Given the description of an element on the screen output the (x, y) to click on. 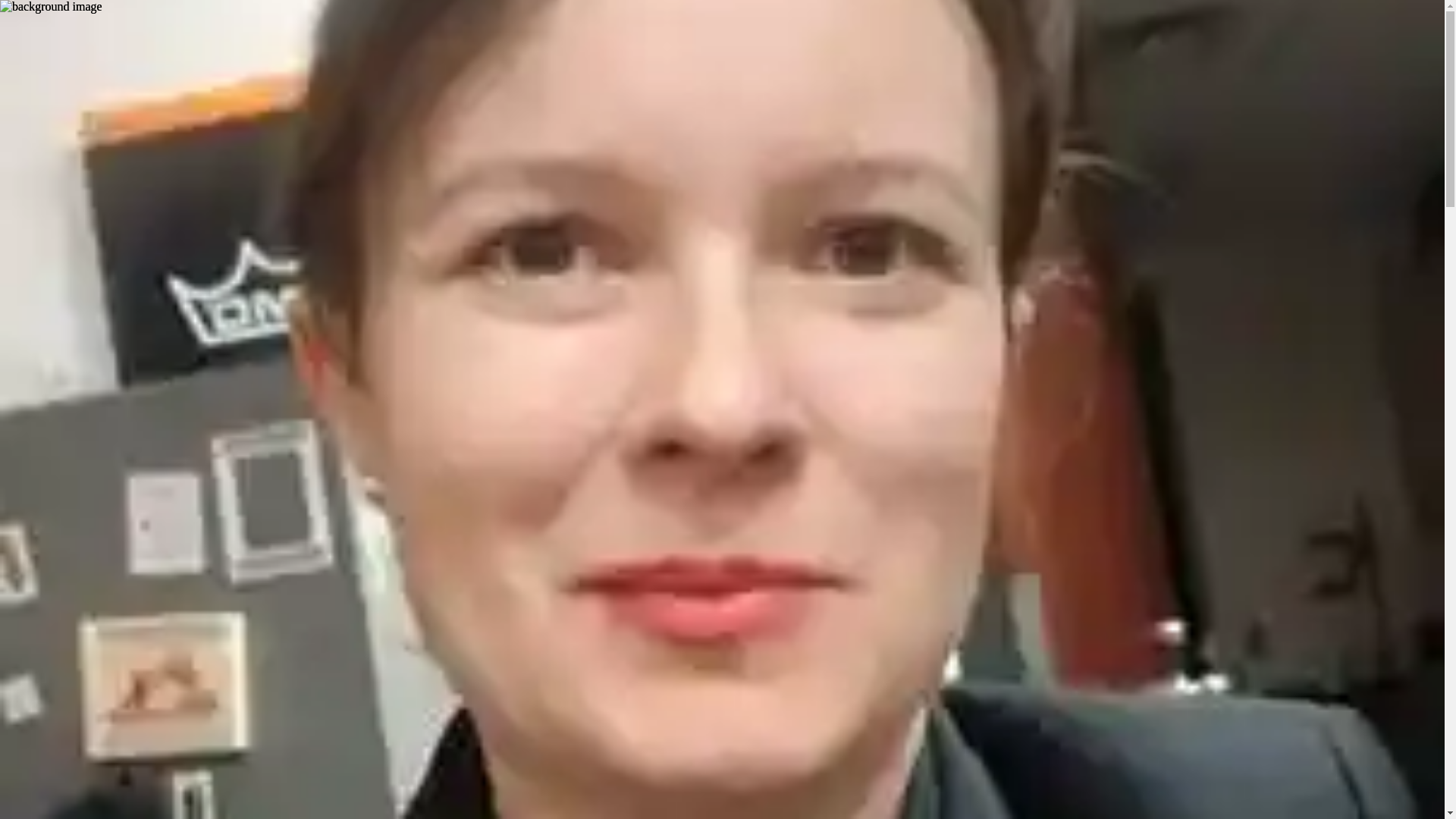
Dani Alexis Ryskamp, J.D. (86, 315)
Expert Witness Directory (457, 6)
Attorney Login (37, 6)
Client Testimonials (95, 6)
Measurable Impact (188, 6)
Expert Witness Fees (346, 6)
Careers (350, 6)
Litigation Guides (143, 6)
Locations (307, 6)
Our Story (24, 6)
Our Team (259, 6)
White Papers (218, 6)
Request an Expert (49, 197)
Expert Login (107, 6)
Case Studies (69, 6)
